Given the description of an element on the screen output the (x, y) to click on. 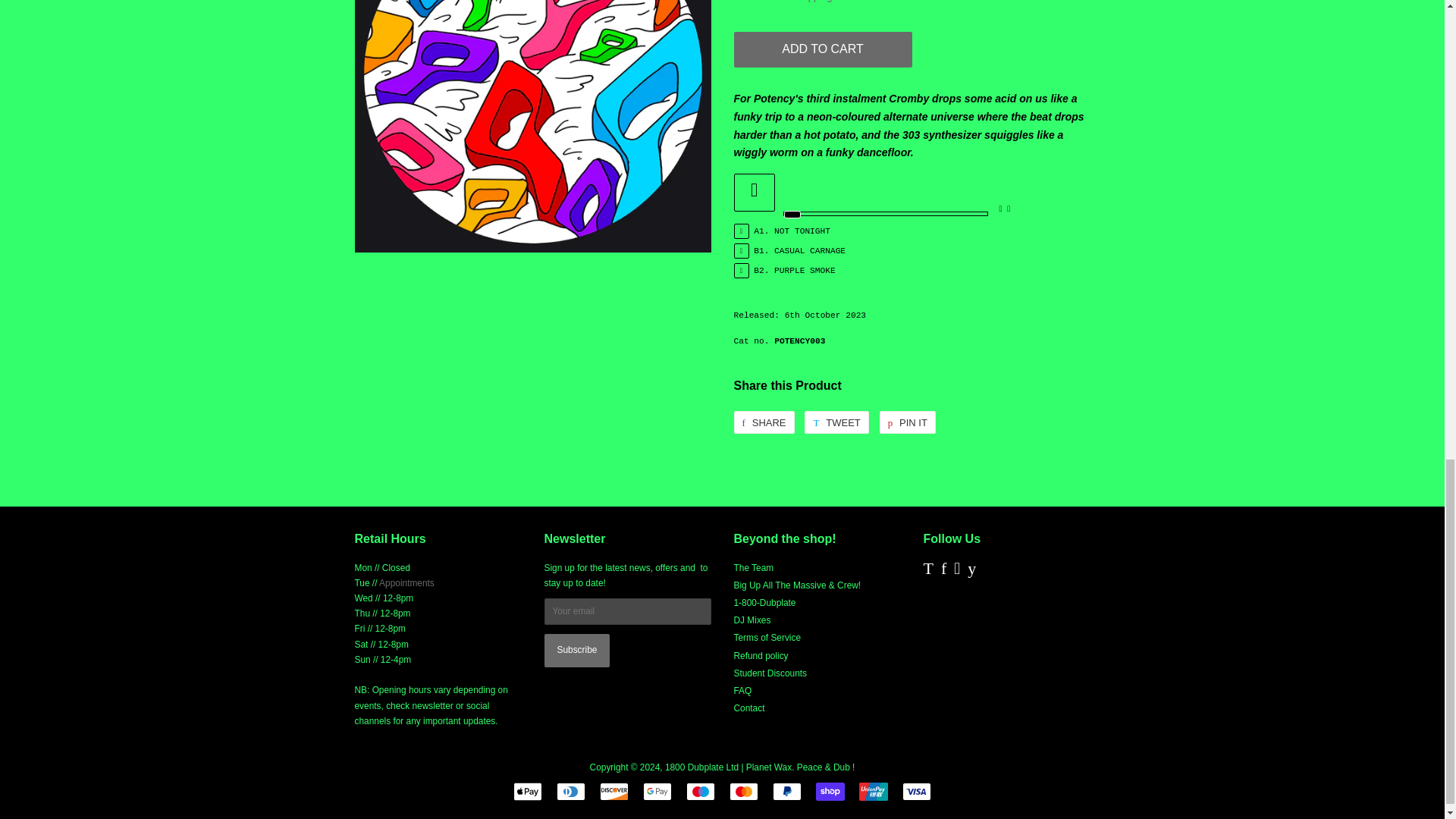
PayPal (787, 791)
Email for availability (405, 583)
Subscribe (577, 650)
Maestro (699, 791)
Diners Club (570, 791)
Share on Facebook (763, 422)
Union Pay (873, 791)
Shop Pay (829, 791)
Tweet on Twitter (836, 422)
Discover (613, 791)
Pin on Pinterest (907, 422)
Planet Wax on Twitter (928, 570)
Apple Pay (527, 791)
Google Pay (657, 791)
Mastercard (743, 791)
